Given the description of an element on the screen output the (x, y) to click on. 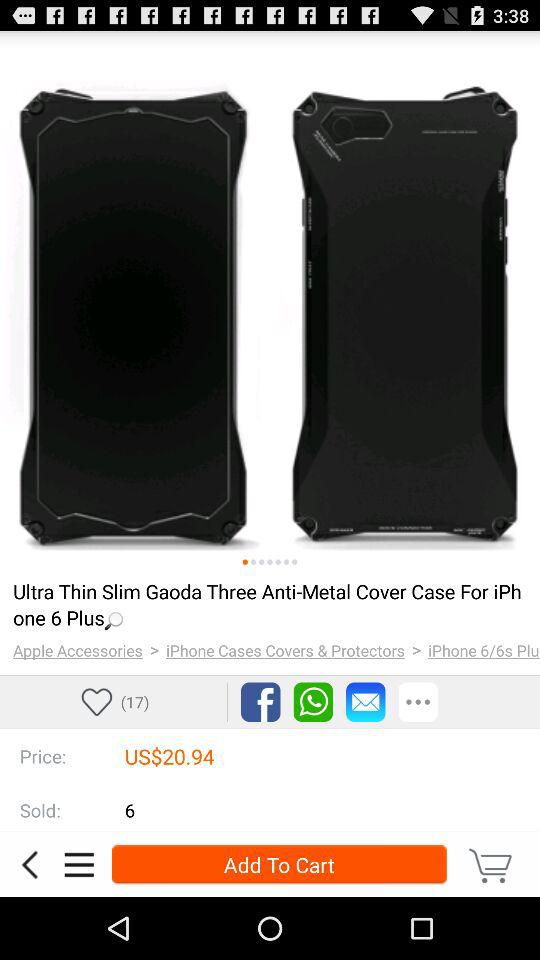
turn off item above the > icon (267, 604)
